Given the description of an element on the screen output the (x, y) to click on. 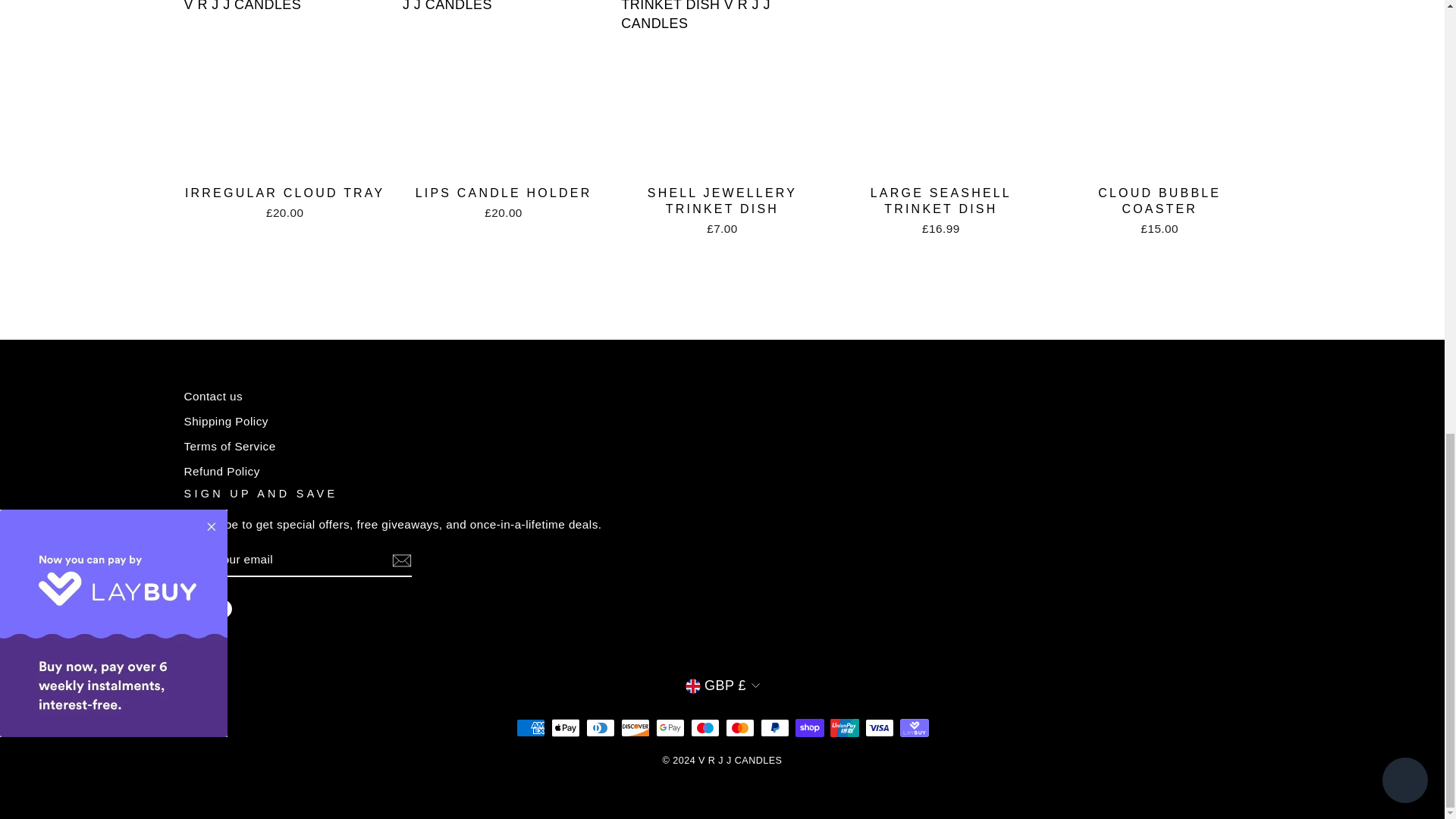
Diners Club (599, 728)
American Express (529, 728)
Google Pay (669, 728)
V R J J  CANDLES on Instagram (192, 608)
V R J J  CANDLES on Facebook (222, 608)
Apple Pay (564, 728)
Discover (634, 728)
